Given the description of an element on the screen output the (x, y) to click on. 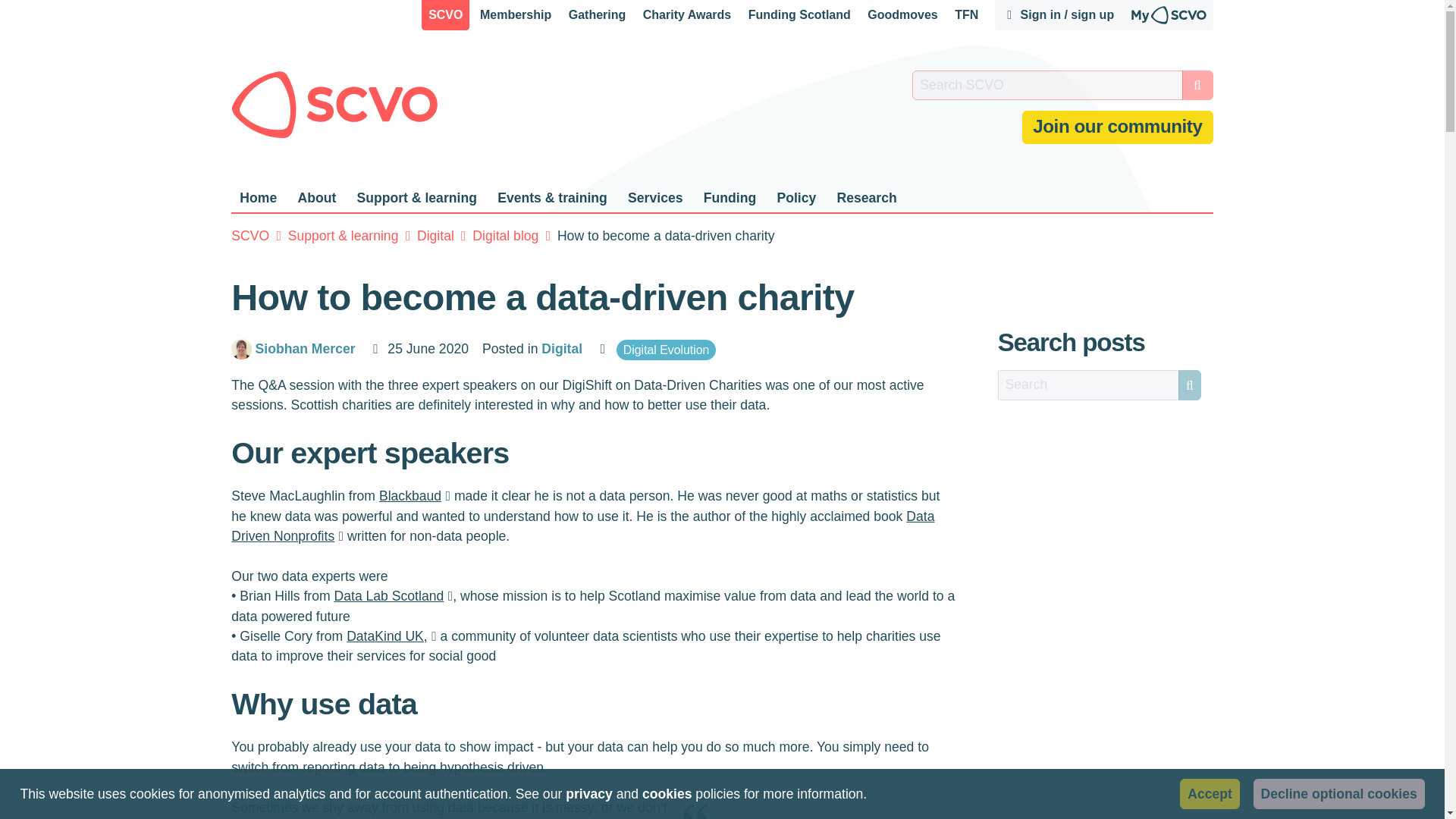
About (315, 198)
Decline optional cookies (1339, 793)
Charity Awards (687, 15)
Goodmoves (902, 15)
SCVO (445, 15)
TFN (966, 15)
Third Force News (966, 15)
Accept (1209, 793)
Read more by Siobhan Mercer (307, 348)
Membership (515, 15)
